Given the description of an element on the screen output the (x, y) to click on. 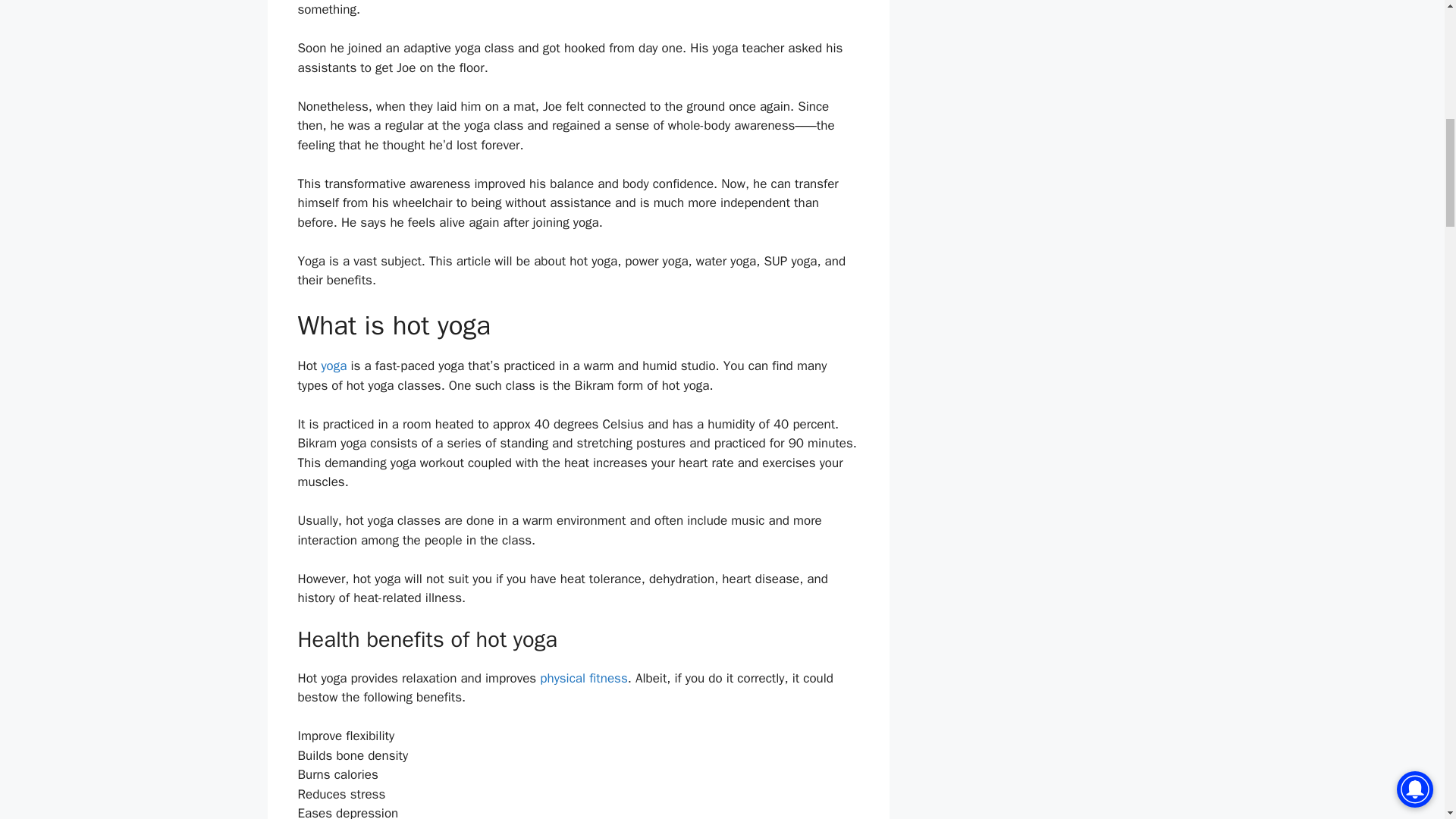
physical fitness (583, 678)
yoga (333, 365)
